Given the description of an element on the screen output the (x, y) to click on. 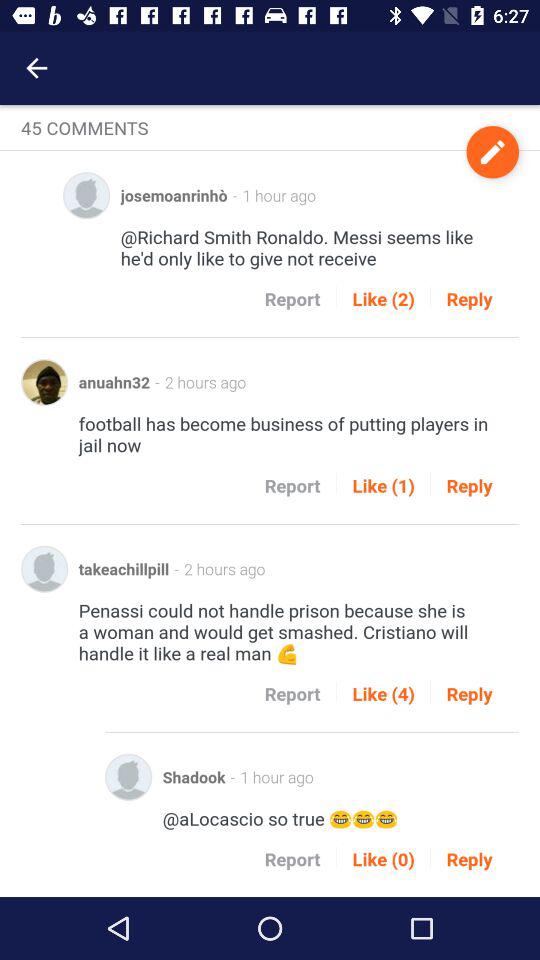
write a comment (492, 152)
